Given the description of an element on the screen output the (x, y) to click on. 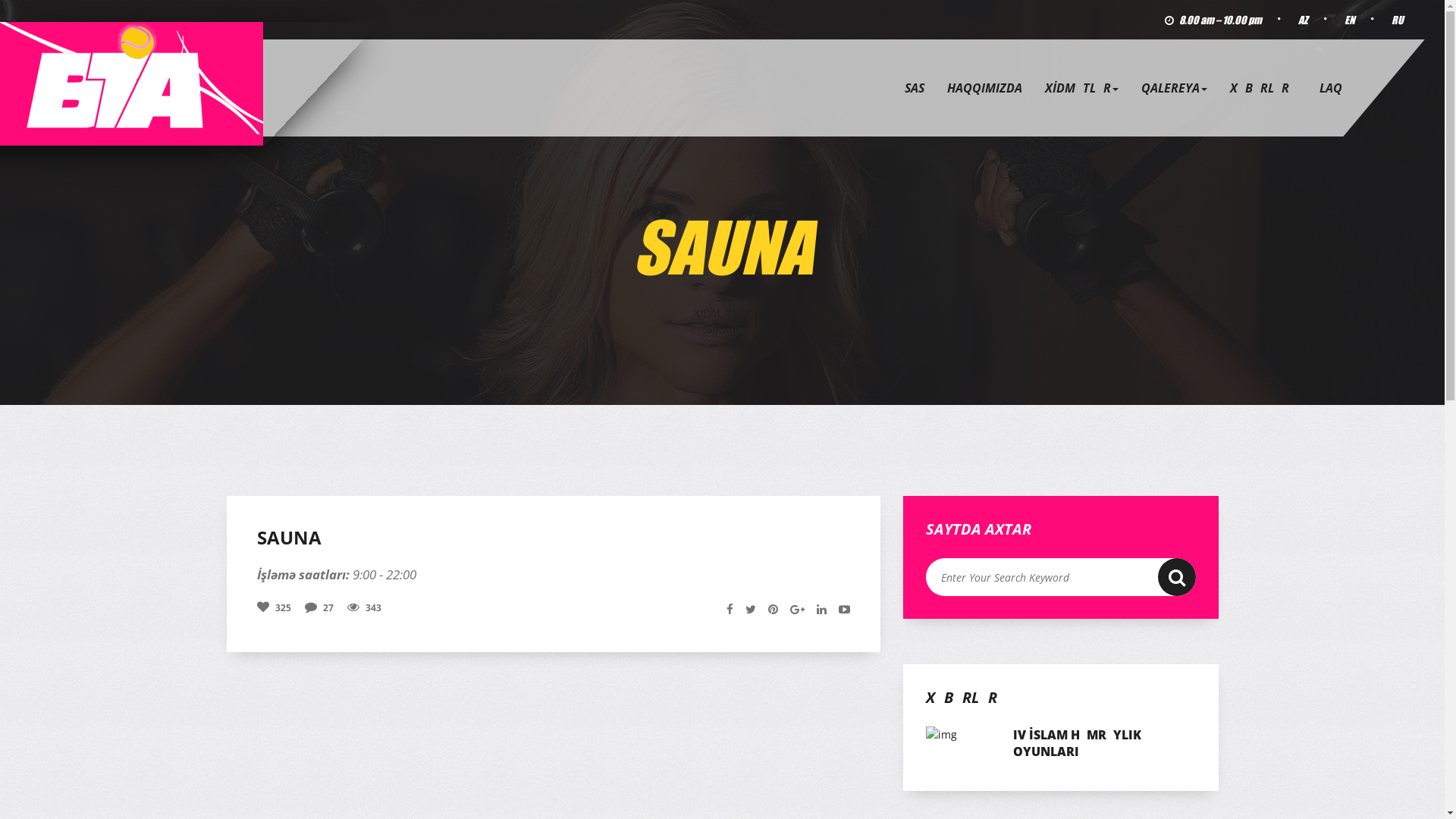
HAQQIMIZDA Element type: text (984, 87)
RU Element type: text (1397, 20)
343 Element type: text (364, 607)
EN Element type: text (1349, 20)
AZ Element type: text (1303, 20)
325 Element type: text (273, 607)
27 Element type: text (318, 607)
QALEREYA Element type: text (1173, 87)
